Given the description of an element on the screen output the (x, y) to click on. 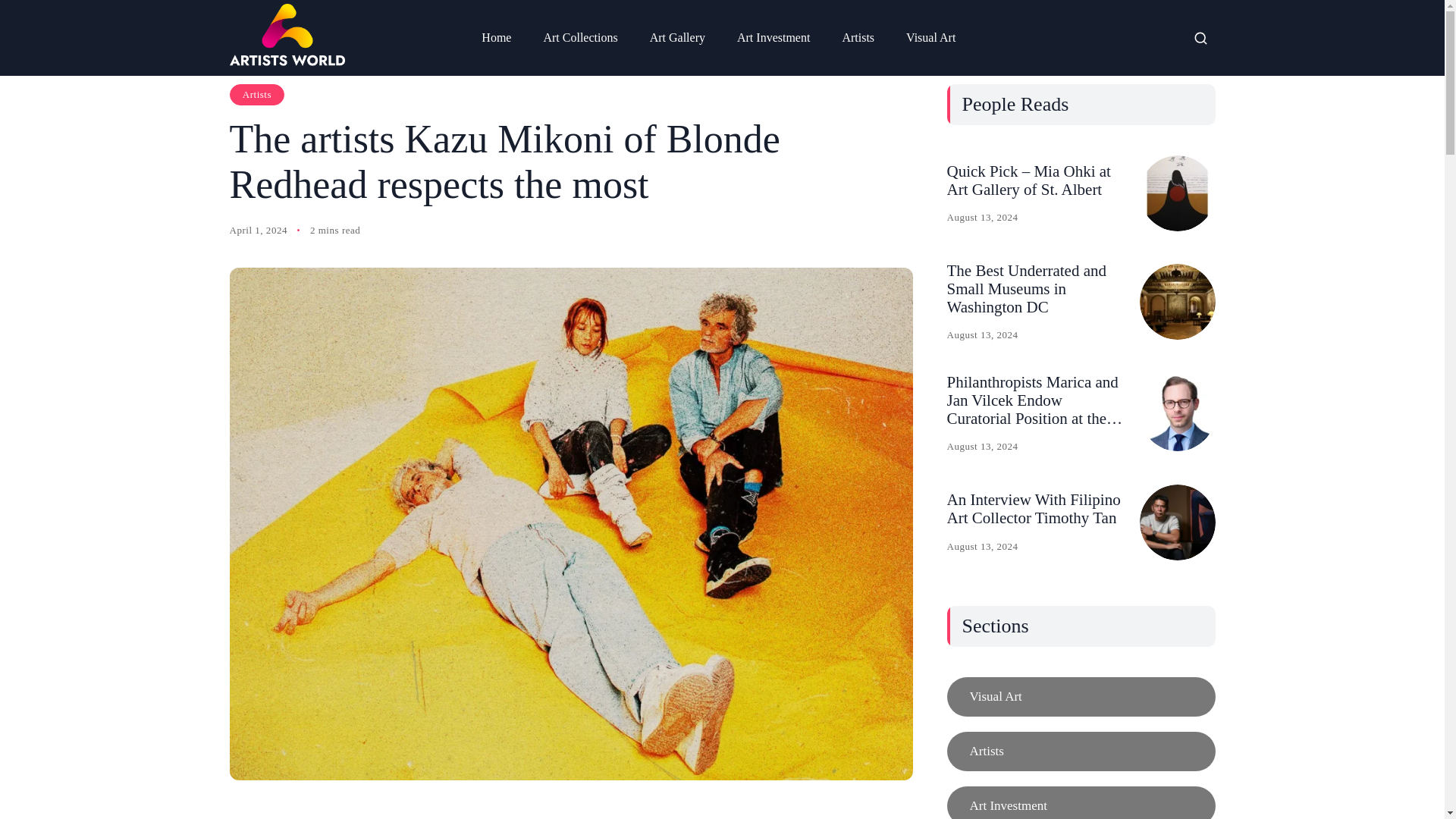
Artists World (285, 34)
The Best Underrated and Small Museums in Washington DC (1176, 301)
The Best Underrated and Small Museums in Washington DC (1026, 288)
Visual Art (930, 38)
April 1, 2024 (257, 230)
August 13, 2024 (981, 217)
Art Collections (579, 38)
Artists (255, 94)
